Given the description of an element on the screen output the (x, y) to click on. 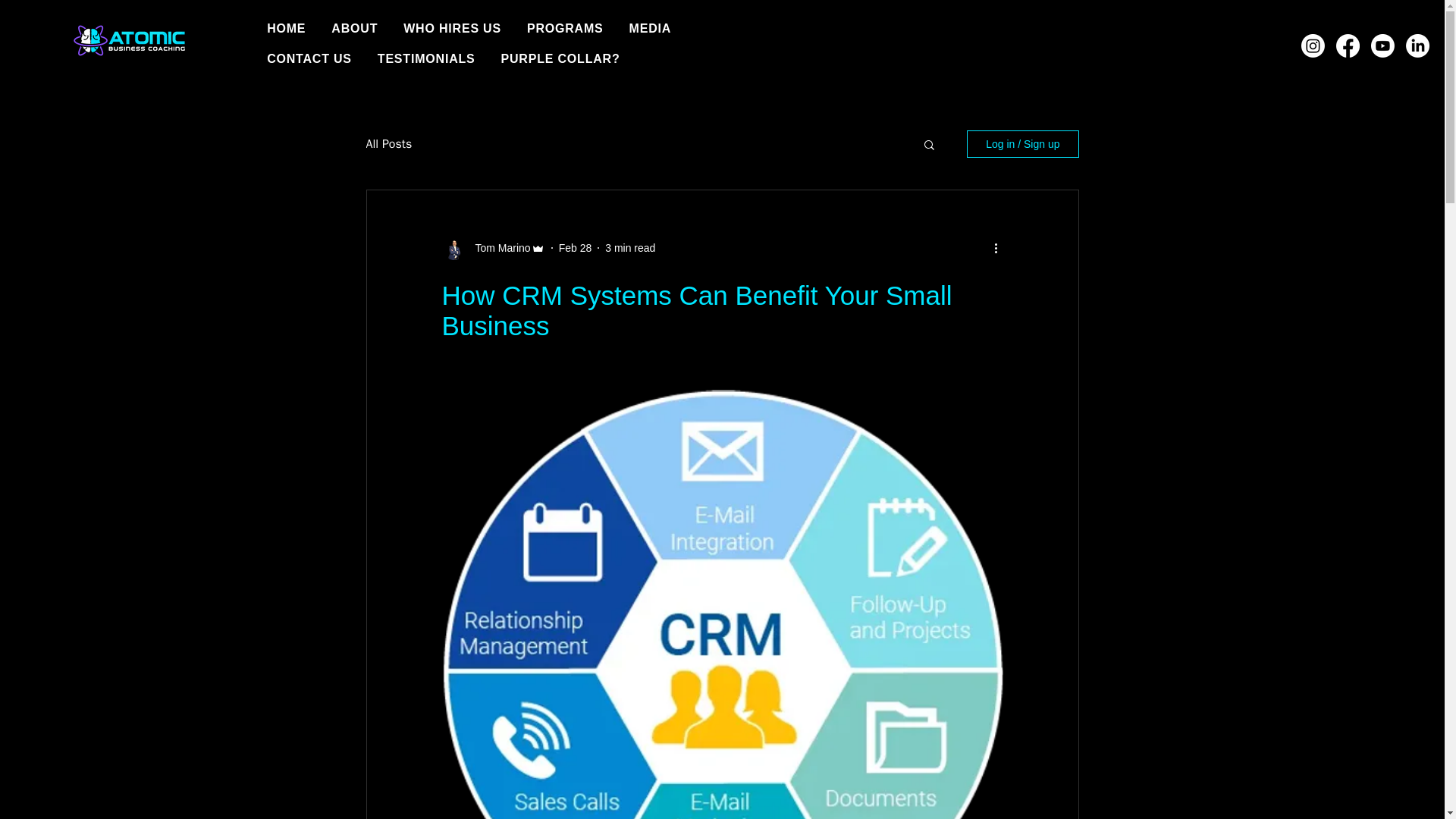
WHO HIRES US (452, 28)
3 min read (630, 246)
Tom Marino (497, 247)
PURPLE COLLAR? (560, 58)
TESTIMONIALS (426, 58)
Feb 28 (575, 246)
HOME (286, 28)
ABOUT (354, 28)
CONTACT US (309, 58)
All Posts (388, 144)
